Given the description of an element on the screen output the (x, y) to click on. 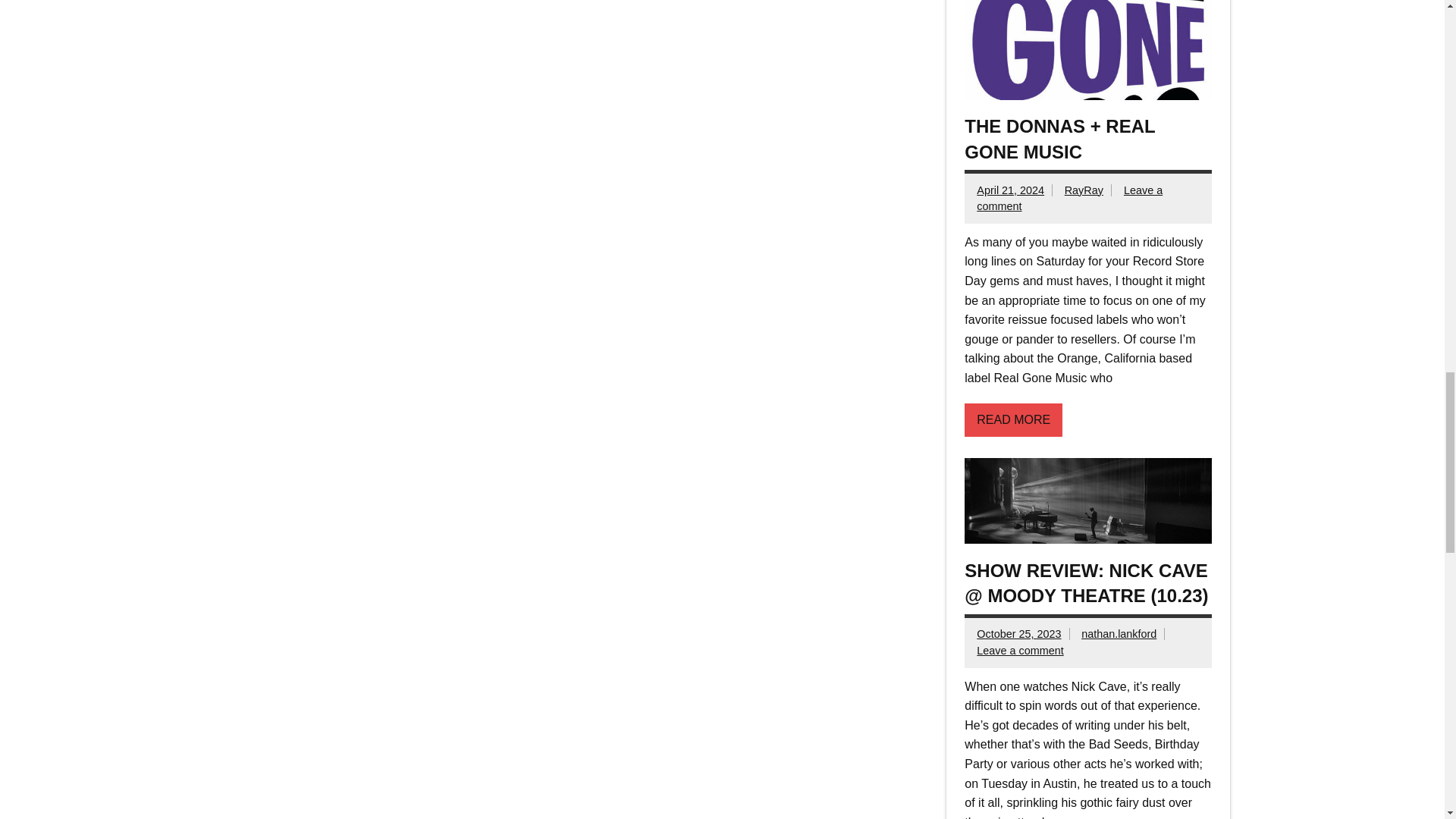
READ MORE (1012, 420)
View all posts by RayRay (1083, 189)
Leave a comment (1019, 650)
April 21, 2024 (1009, 189)
October 25, 2023 (1018, 633)
Leave a comment (1068, 197)
3:25 pm (1009, 189)
RayRay (1083, 189)
View all posts by nathan.lankford (1118, 633)
10:30 am (1018, 633)
nathan.lankford (1118, 633)
